Given the description of an element on the screen output the (x, y) to click on. 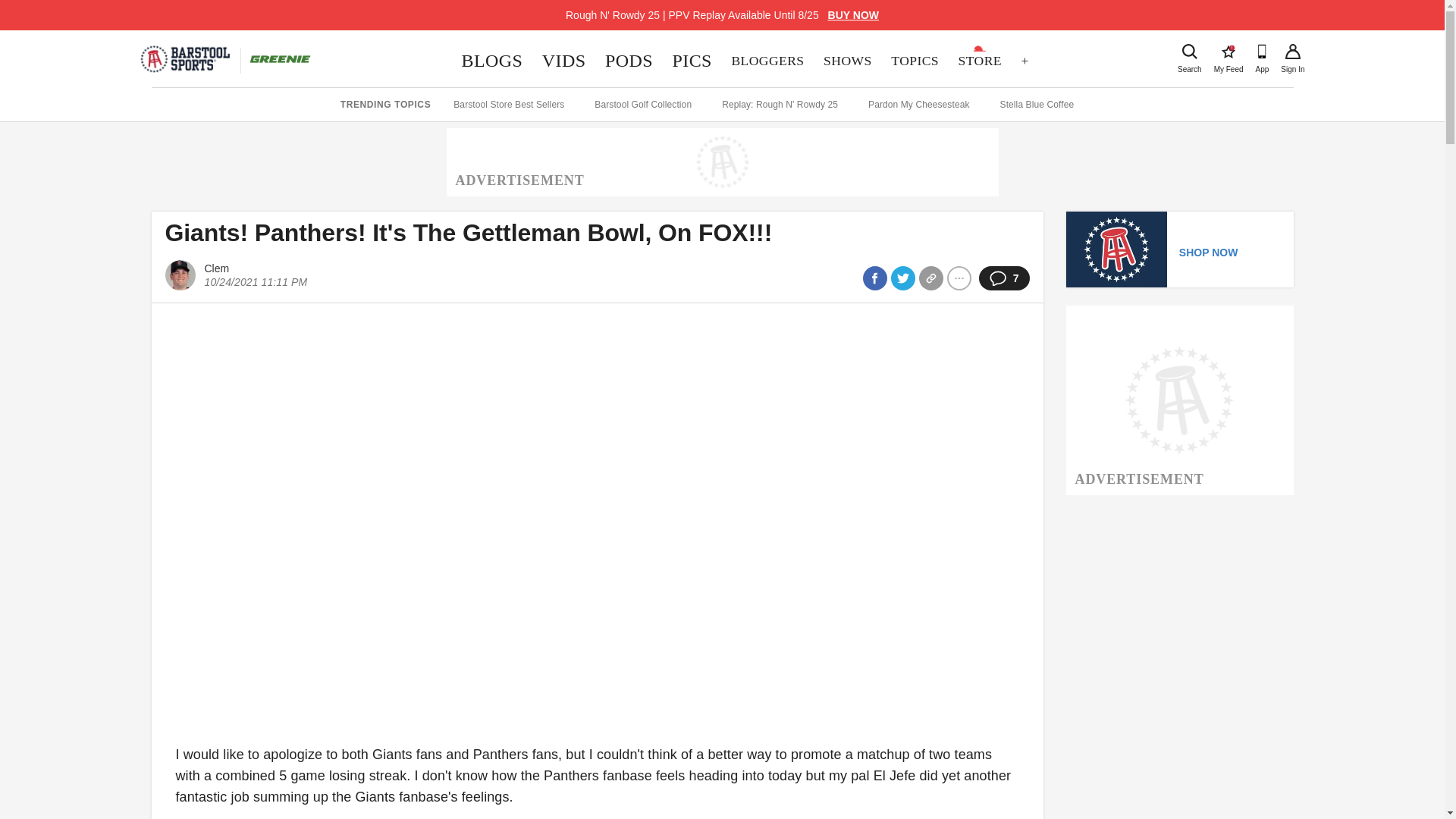
BLOGS (1228, 51)
PICS (491, 60)
TOPICS (692, 60)
VIDS (913, 60)
BUY NOW (563, 60)
Search (853, 15)
Sign Up (1189, 51)
SHOWS (1292, 51)
BLOGGERS (846, 60)
